Given the description of an element on the screen output the (x, y) to click on. 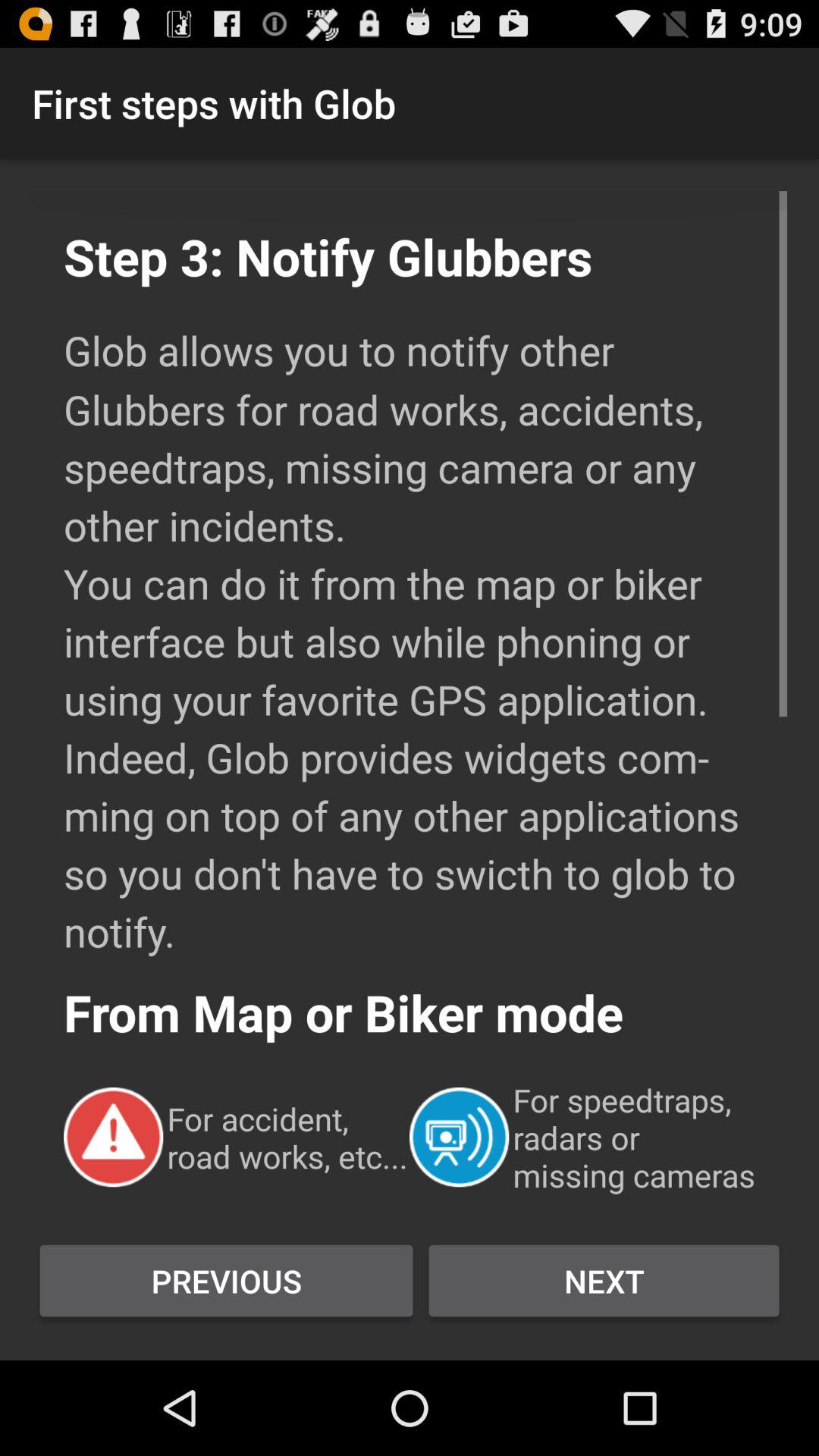
tap icon to the left of the next (225, 1280)
